Given the description of an element on the screen output the (x, y) to click on. 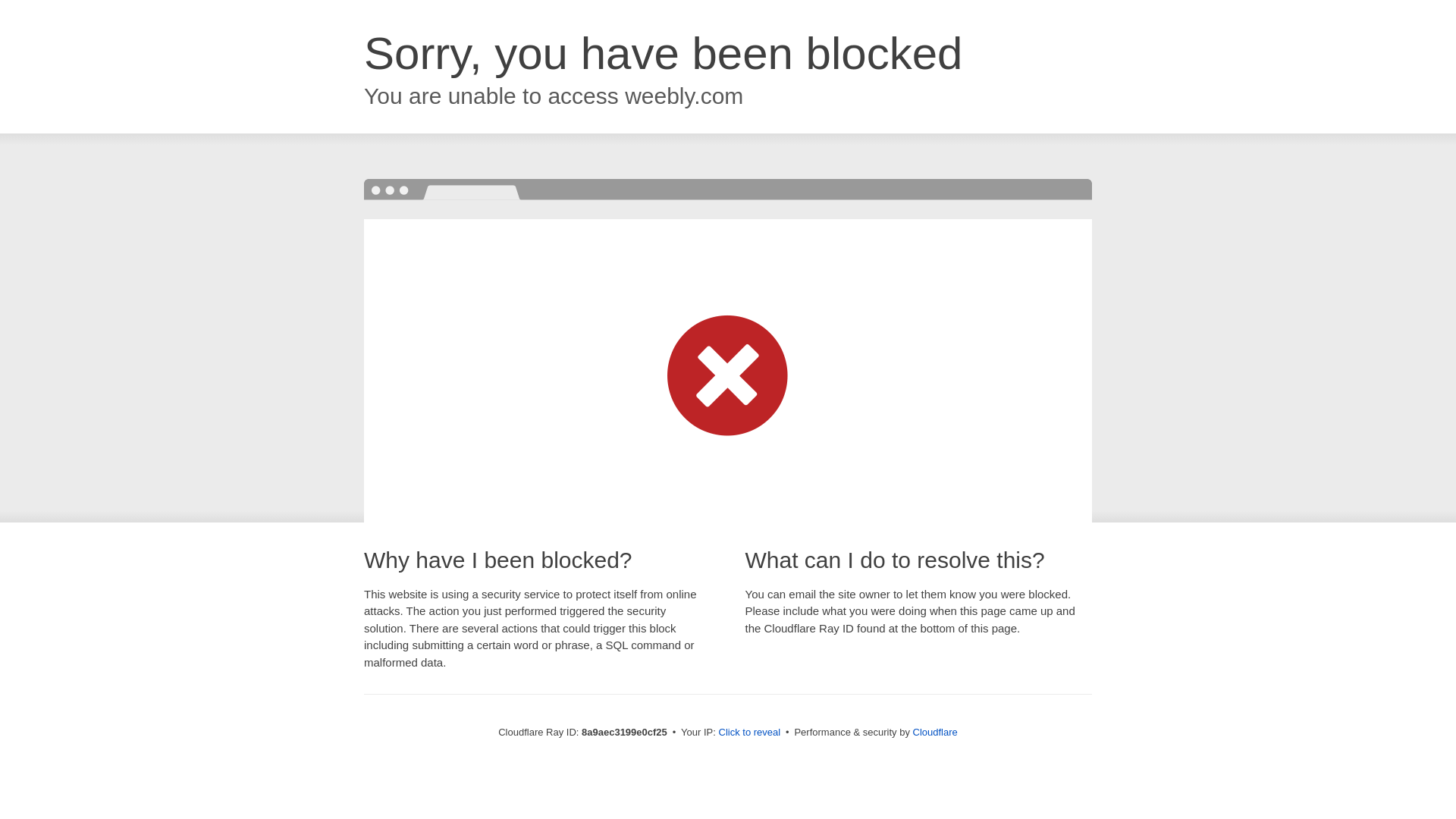
Click to reveal (749, 732)
Cloudflare (935, 731)
